Given the description of an element on the screen output the (x, y) to click on. 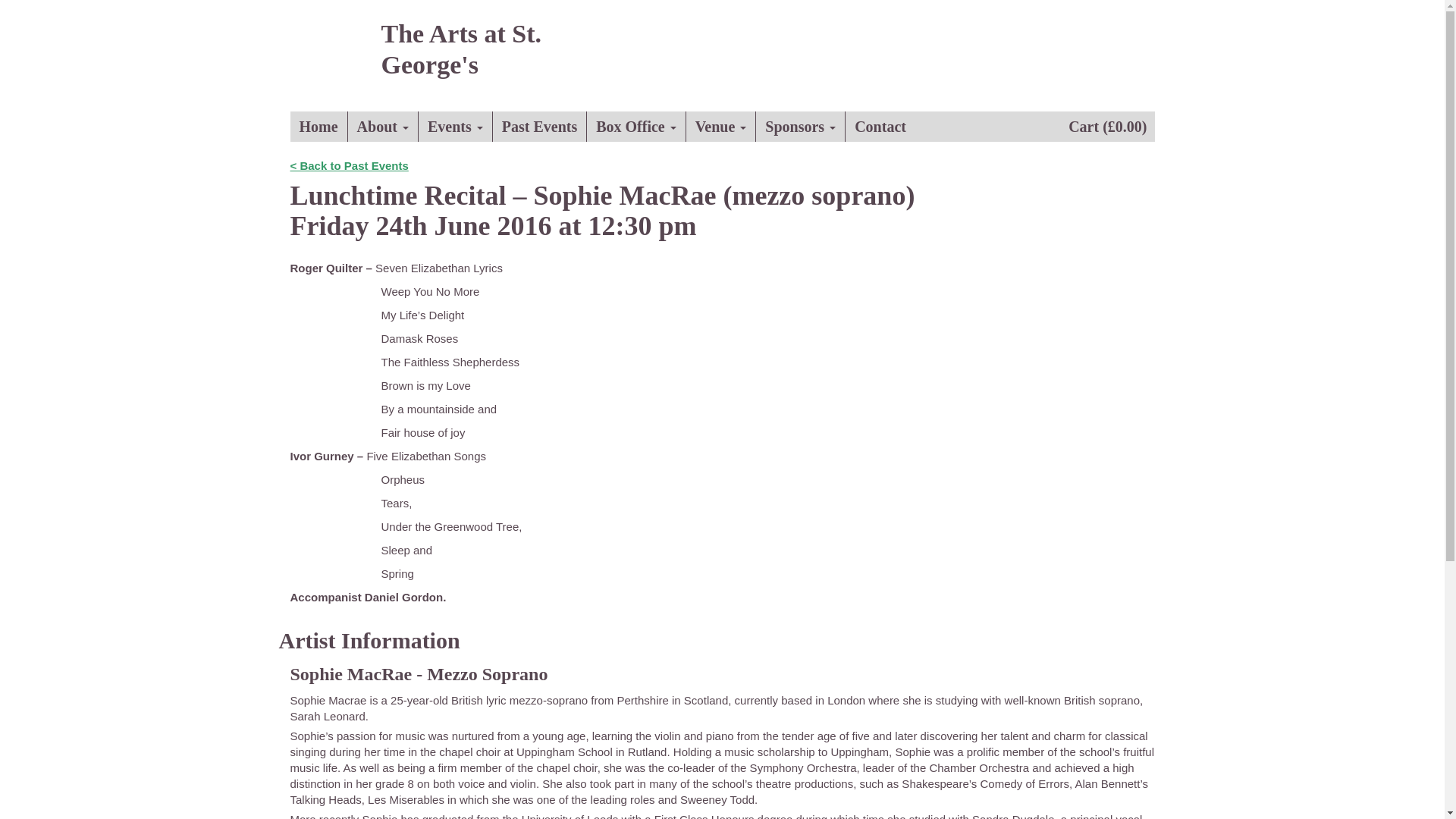
Box Office (635, 126)
Sponsors (800, 126)
Past Events (539, 126)
About (383, 126)
Home (318, 126)
Past Events (539, 126)
Events (456, 126)
Venue (721, 126)
The Arts at St. George's (463, 55)
Box Office (635, 126)
